Given the description of an element on the screen output the (x, y) to click on. 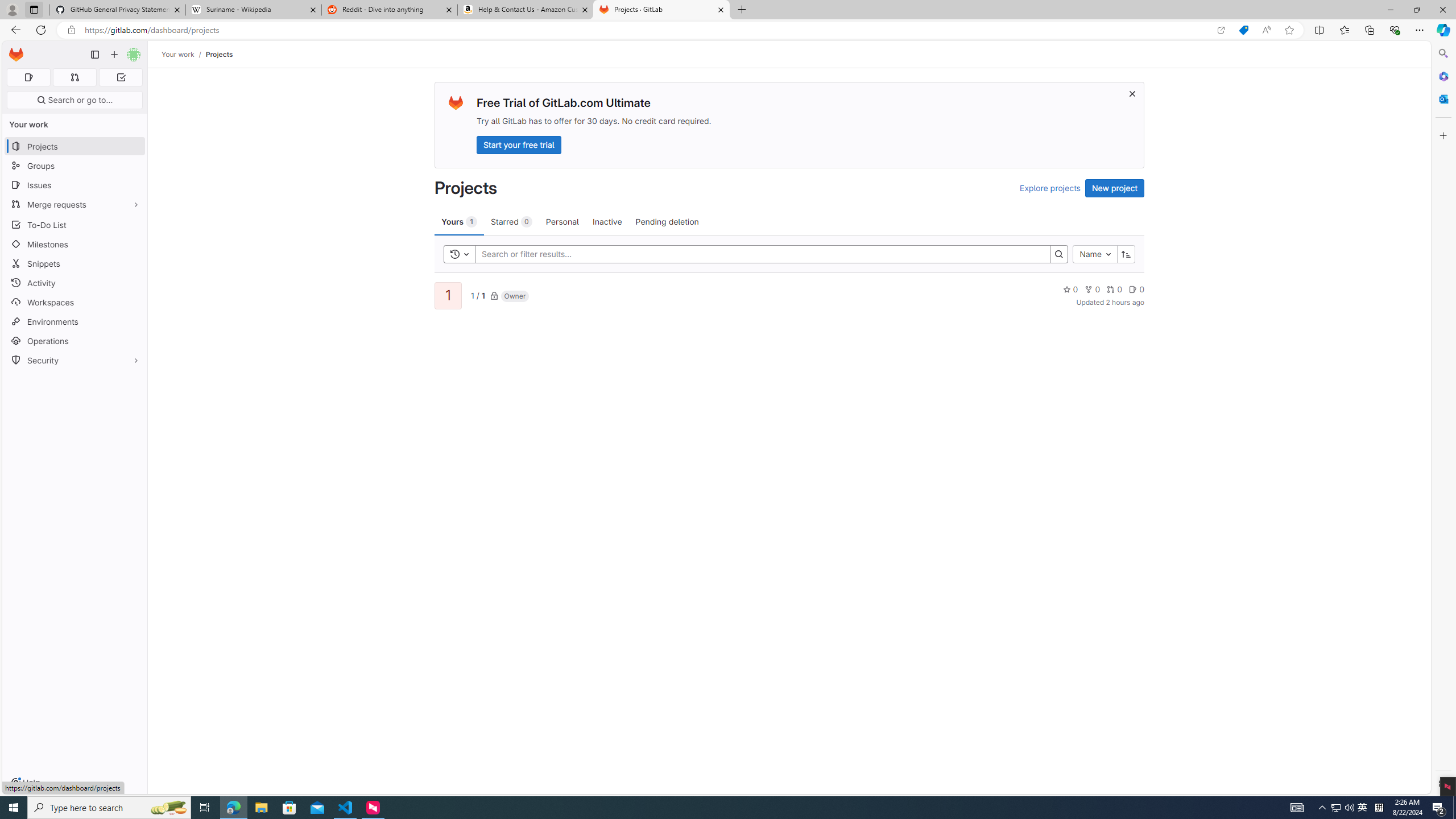
Milestones (74, 244)
Suriname - Wikipedia (253, 9)
Name (1095, 253)
1 / 1 (477, 294)
Activity (74, 282)
Primary navigation sidebar (94, 54)
Your work/ (183, 53)
Snippets (74, 262)
Open in app (1220, 29)
Sort direction: Ascending (1125, 253)
Dismiss trial promotion (1131, 93)
GitHub General Privacy Statement - GitHub Docs (117, 9)
Operations (74, 340)
